Given the description of an element on the screen output the (x, y) to click on. 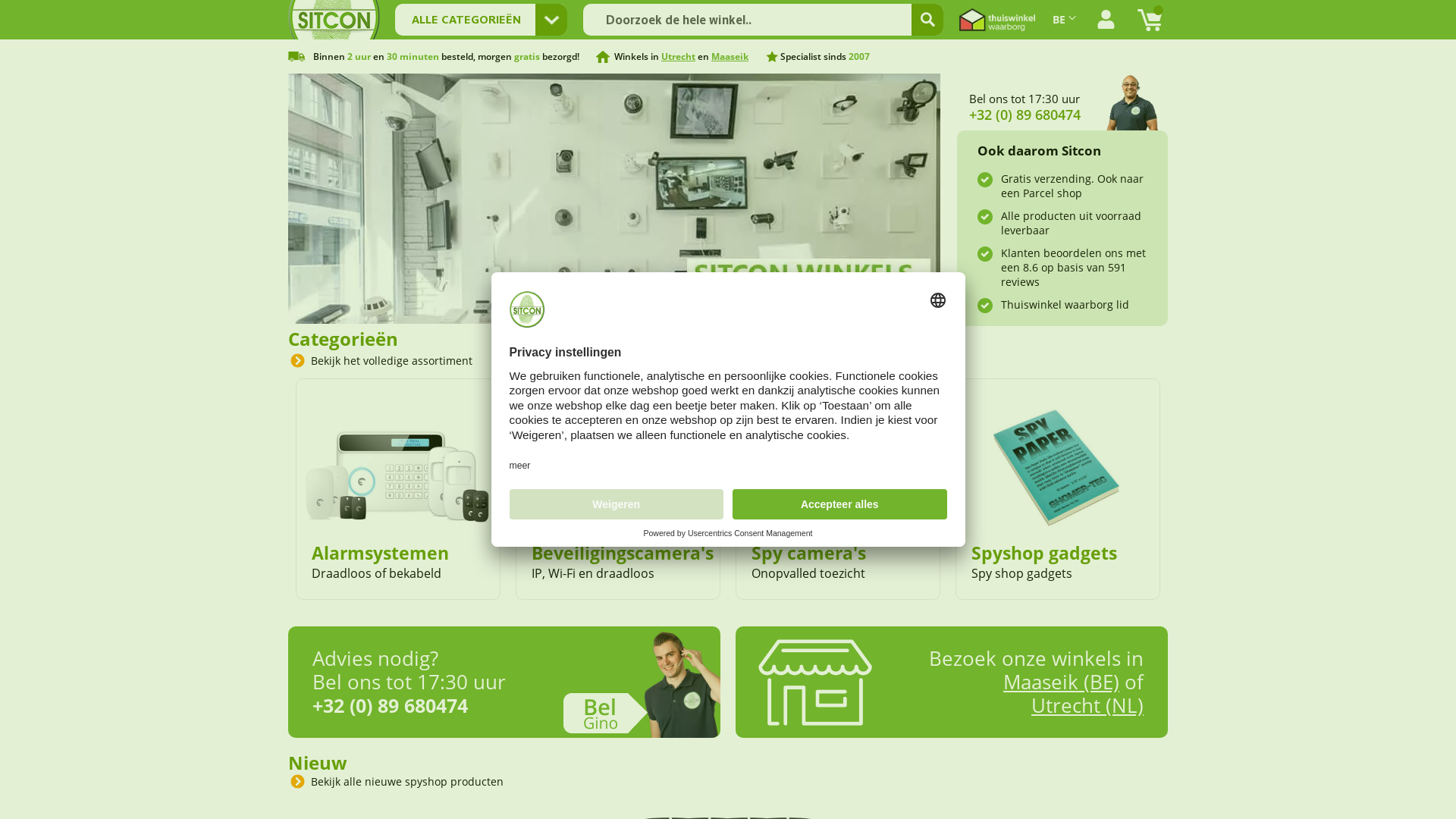
Maaseik Element type: text (729, 56)
Bekijk alle nieuwe spyshop producten Element type: text (405, 781)
Zoek Element type: text (927, 19)
Maaseik (BE) Element type: text (1061, 681)
Spyshop gadgets Element type: text (1044, 552)
Spy camera's Element type: text (808, 552)
Beveiligingscamera's Element type: text (622, 552)
+32 (0) 89 680474 Element type: text (389, 705)
Alarmsystemen Element type: text (379, 552)
Bekijk het volledige assortiment Element type: text (389, 360)
Winkelwagen Element type: text (1149, 19)
Thuiswinkel Waarborg Element type: hover (997, 19)
Mijn account Element type: hover (1105, 19)
Utrecht Element type: text (678, 56)
+32 (0) 89 680474 Element type: text (1024, 114)
Utrecht (NL) Element type: text (1087, 704)
